Given the description of an element on the screen output the (x, y) to click on. 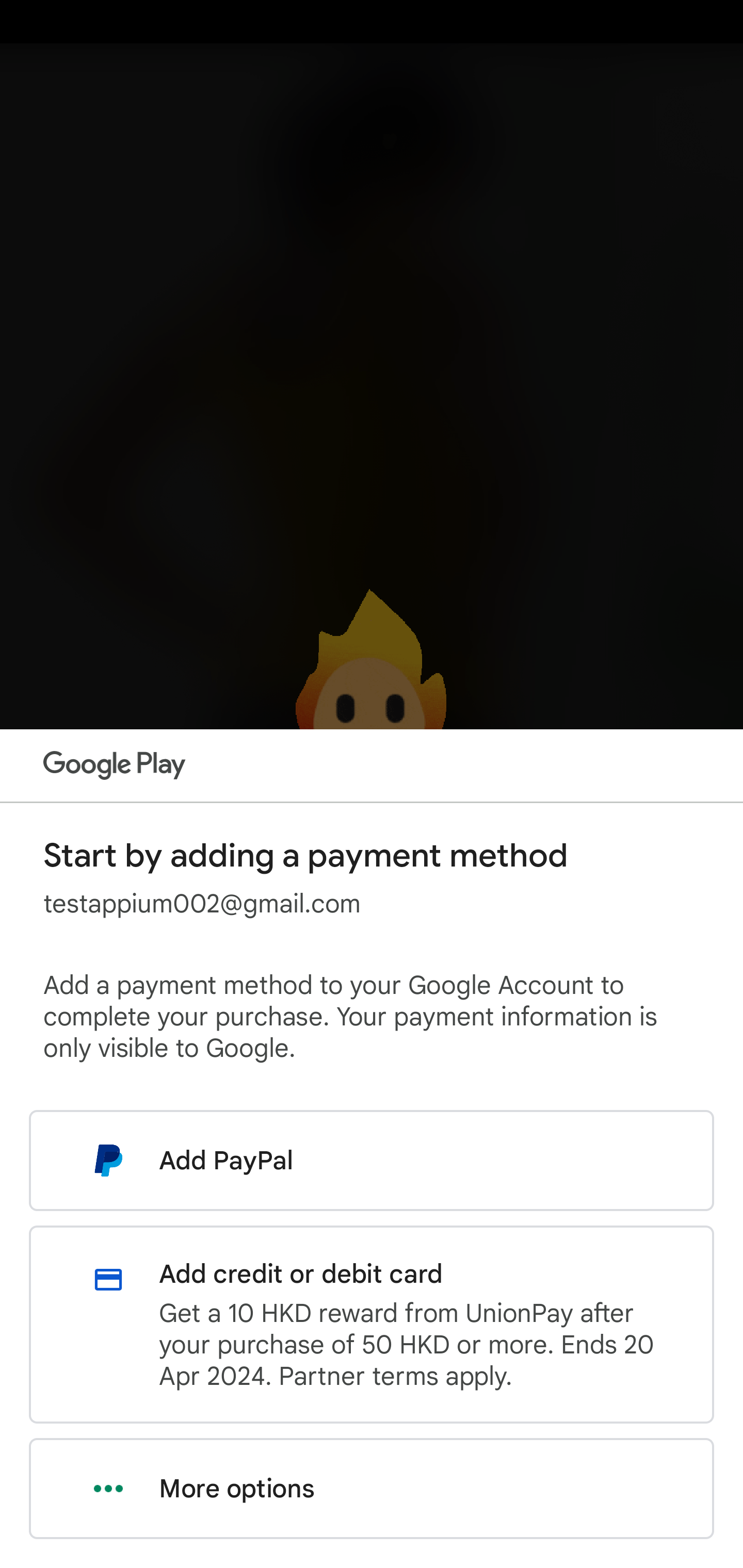
Add PayPal (371, 1160)
More options (371, 1488)
